Given the description of an element on the screen output the (x, y) to click on. 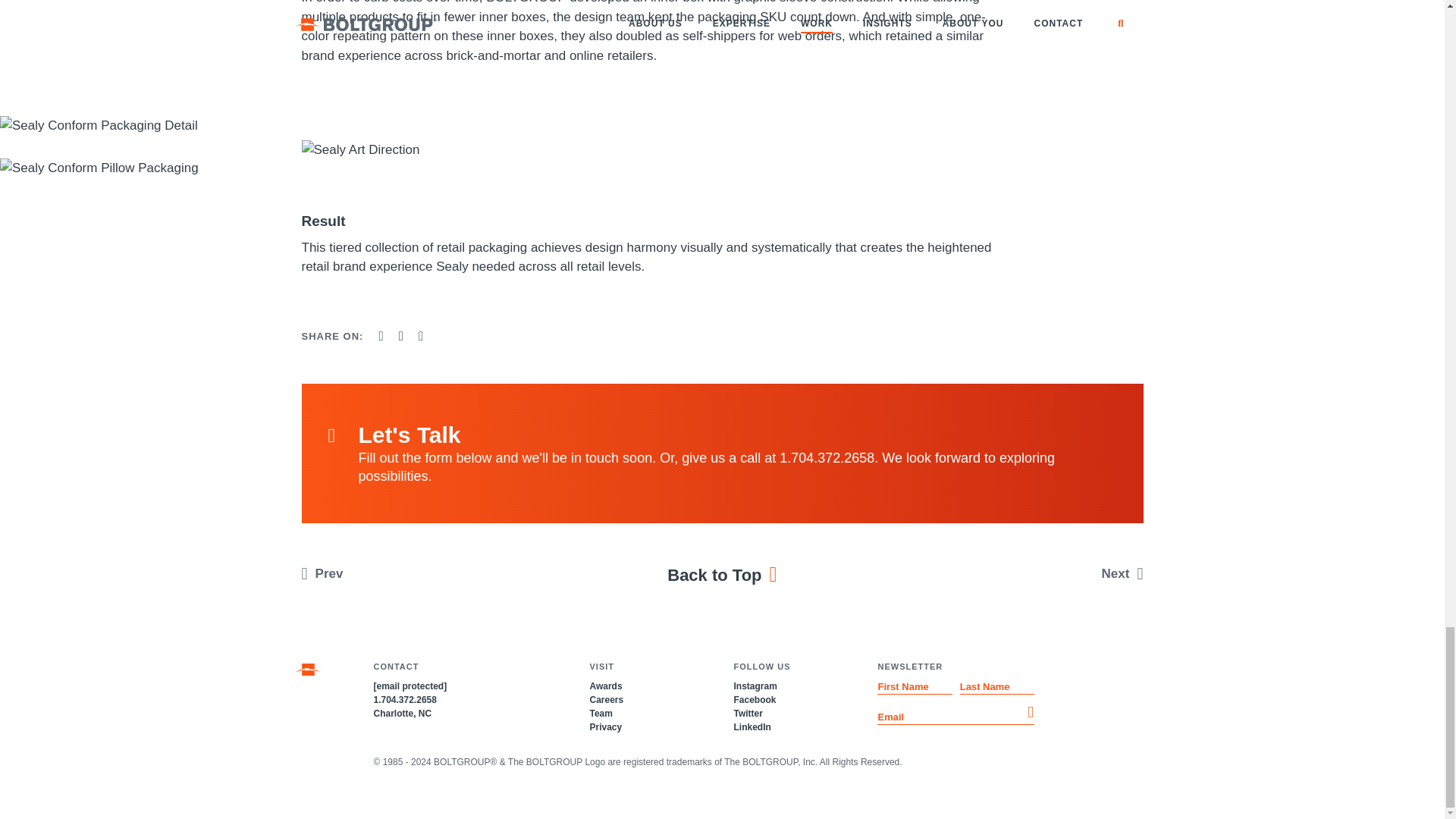
Privacy (605, 726)
Twitter (747, 713)
Prev (398, 573)
Awards (605, 685)
Instagram (754, 685)
1.704.372.2658 (403, 699)
Facebook (754, 699)
Careers (606, 699)
Next (1045, 573)
LinkedIn (751, 726)
